Given the description of an element on the screen output the (x, y) to click on. 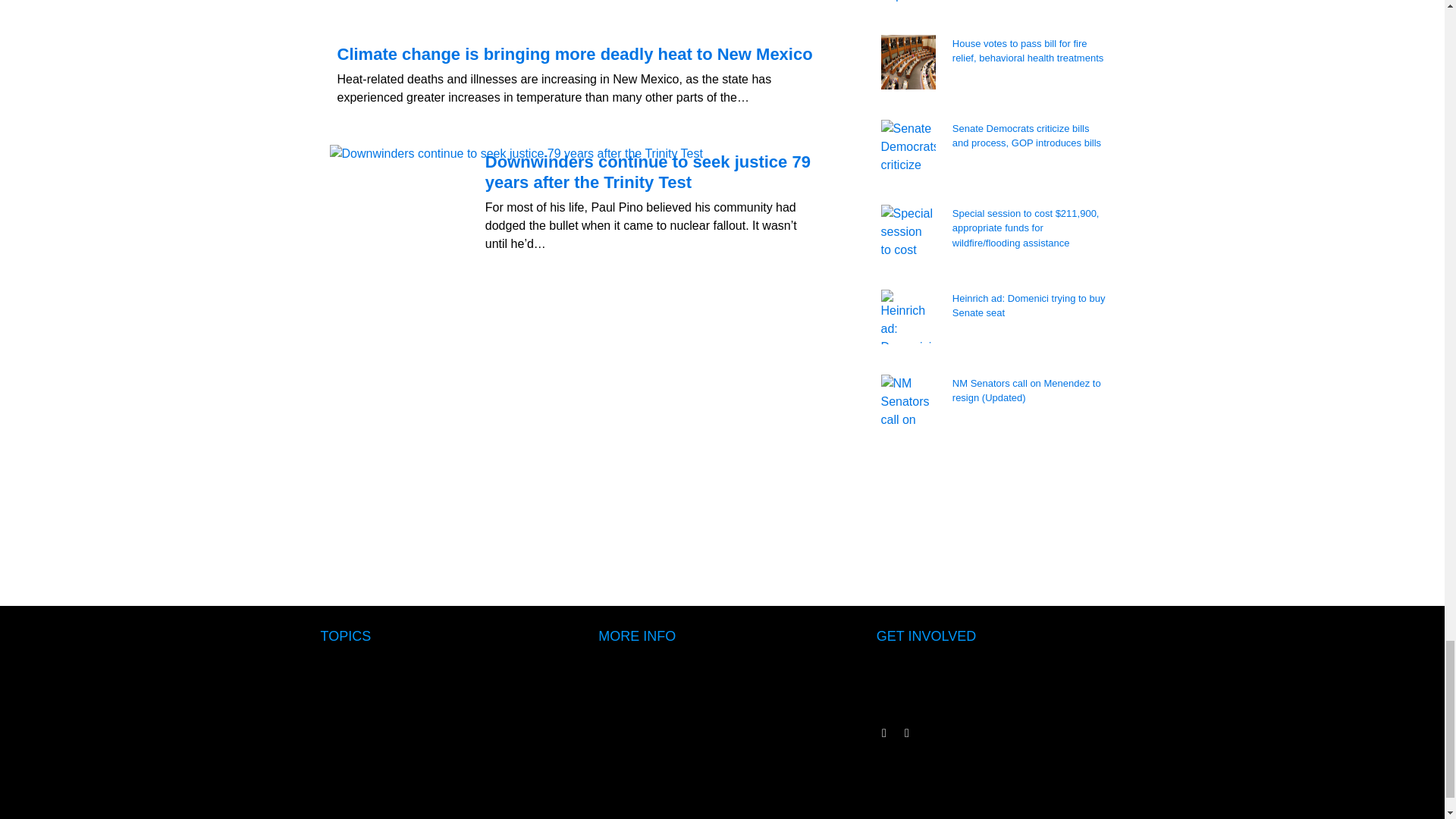
Climate change is bringing more deadly heat to New Mexico (575, 57)
